Given the description of an element on the screen output the (x, y) to click on. 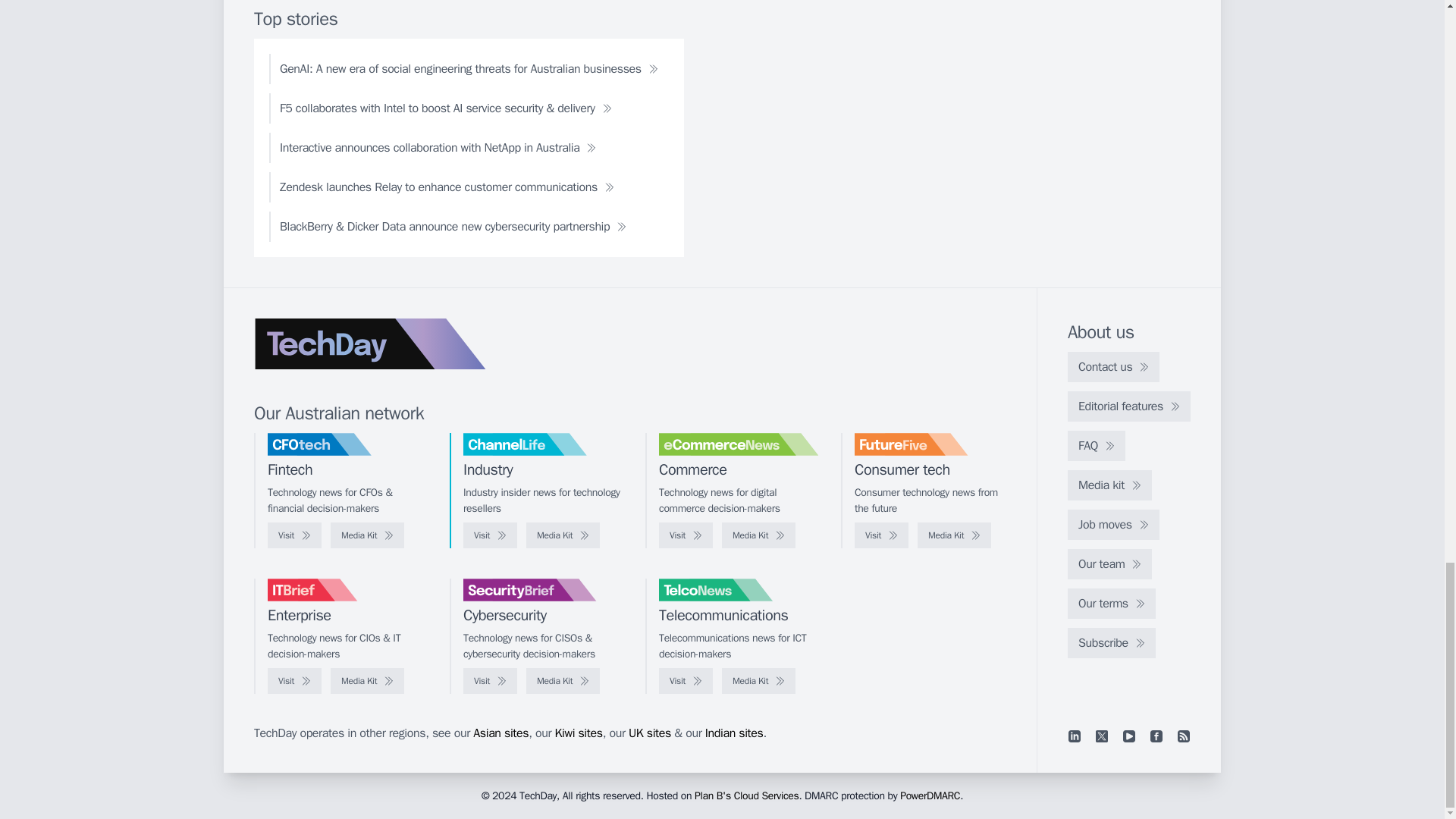
Media Kit (954, 534)
Media Kit (562, 534)
Visit (881, 534)
Visit (489, 534)
Media Kit (758, 534)
Visit (686, 534)
Media Kit (367, 534)
Visit (294, 534)
Zendesk launches Relay to enhance customer communications (446, 186)
